Given the description of an element on the screen output the (x, y) to click on. 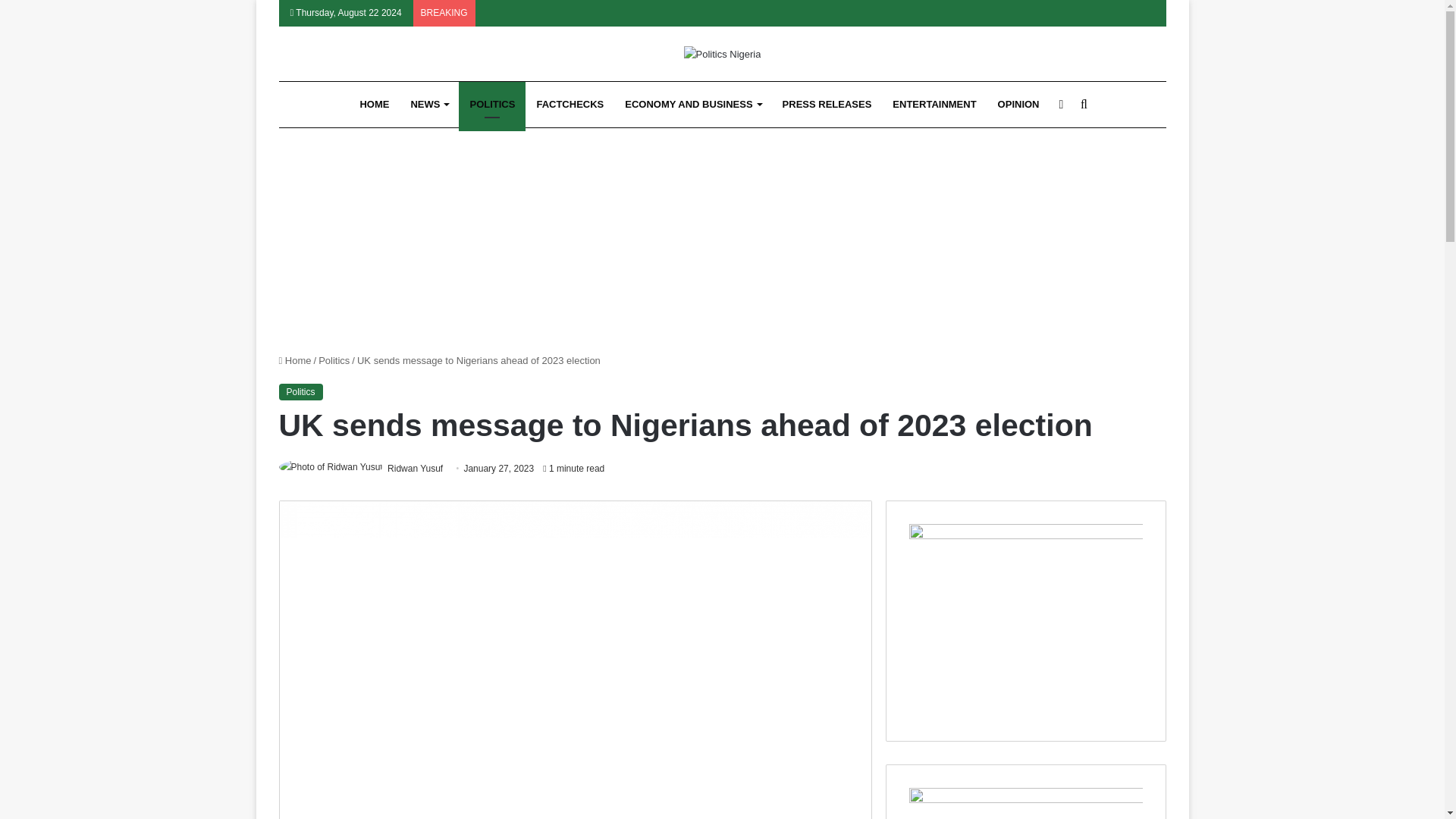
Politics (301, 392)
OPINION (1018, 104)
PRESS RELEASES (826, 104)
FACTCHECKS (569, 104)
Home (295, 360)
HOME (373, 104)
Politics (333, 360)
ENTERTAINMENT (934, 104)
Politics Nigeria (722, 53)
NEWS (428, 104)
